Given the description of an element on the screen output the (x, y) to click on. 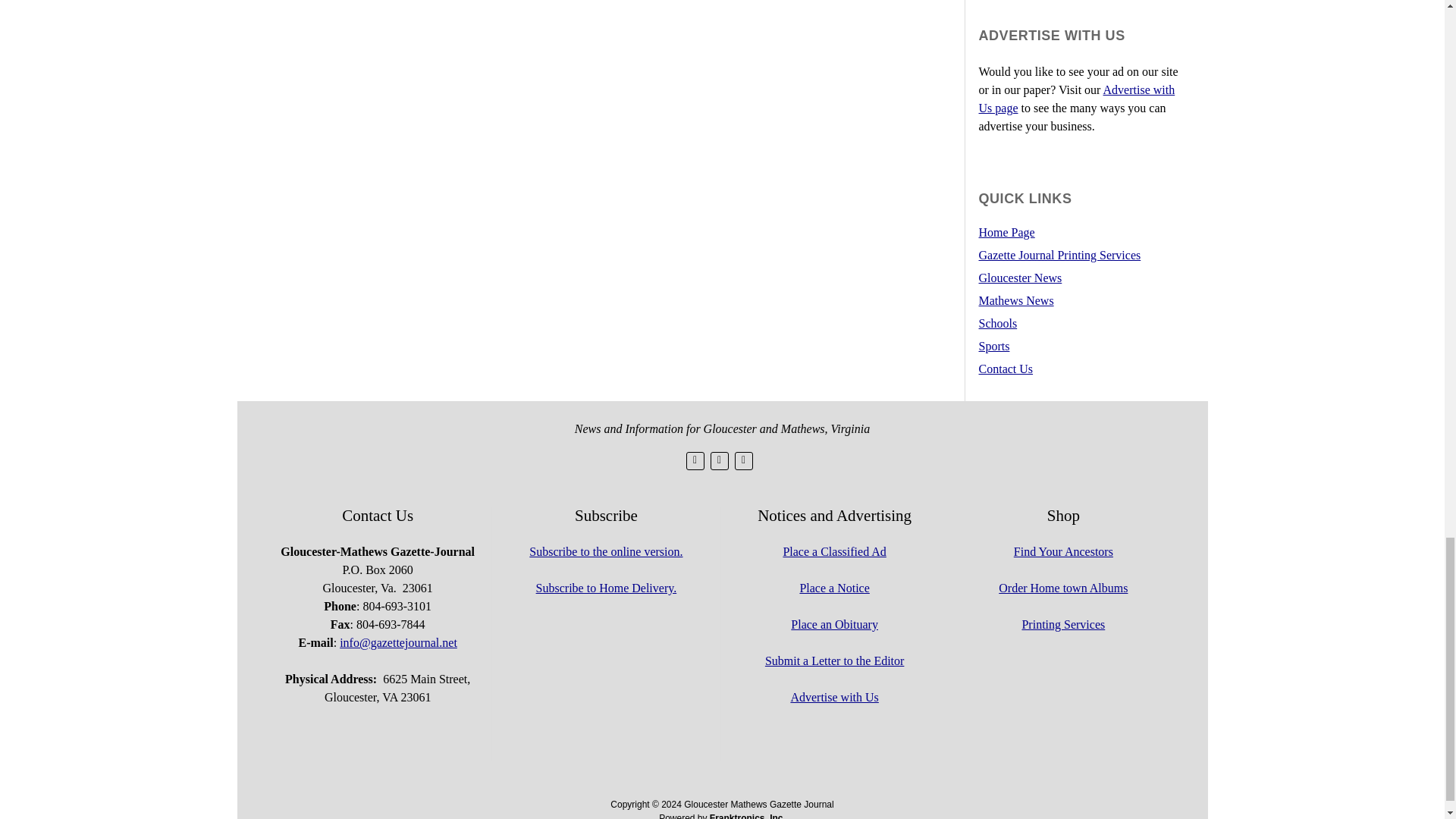
instagram (742, 461)
twitter (694, 461)
facebook (719, 461)
